Given the description of an element on the screen output the (x, y) to click on. 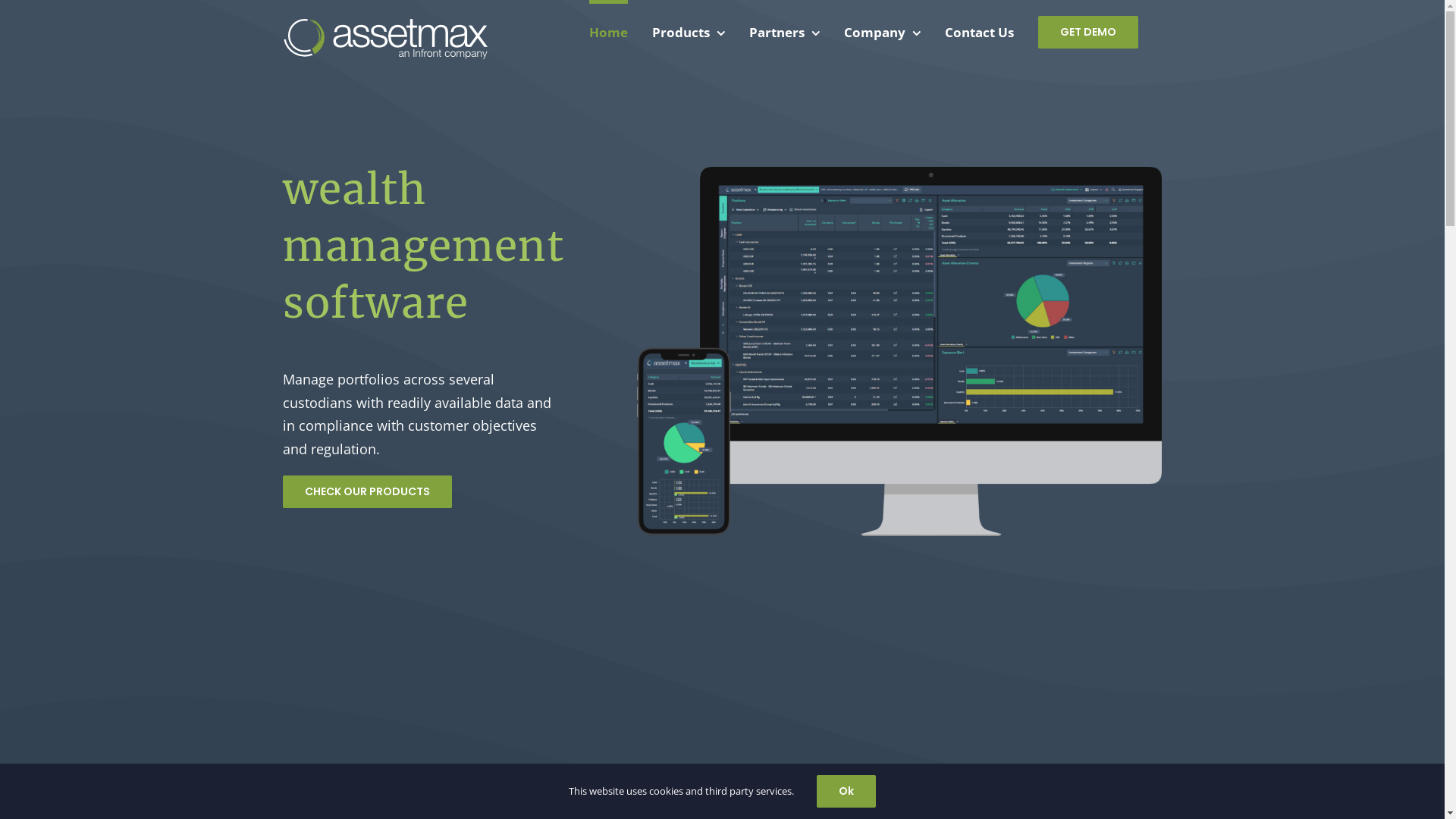
GET DEMO Element type: text (1087, 30)
Products Element type: text (688, 30)
Company Element type: text (881, 30)
Ok Element type: text (845, 791)
CHECK OUR PRODUCTS Element type: text (366, 491)
home screenshot2 Element type: hover (899, 351)
Home Element type: text (607, 30)
Contact Us Element type: text (978, 30)
Partners Element type: text (784, 30)
